Given the description of an element on the screen output the (x, y) to click on. 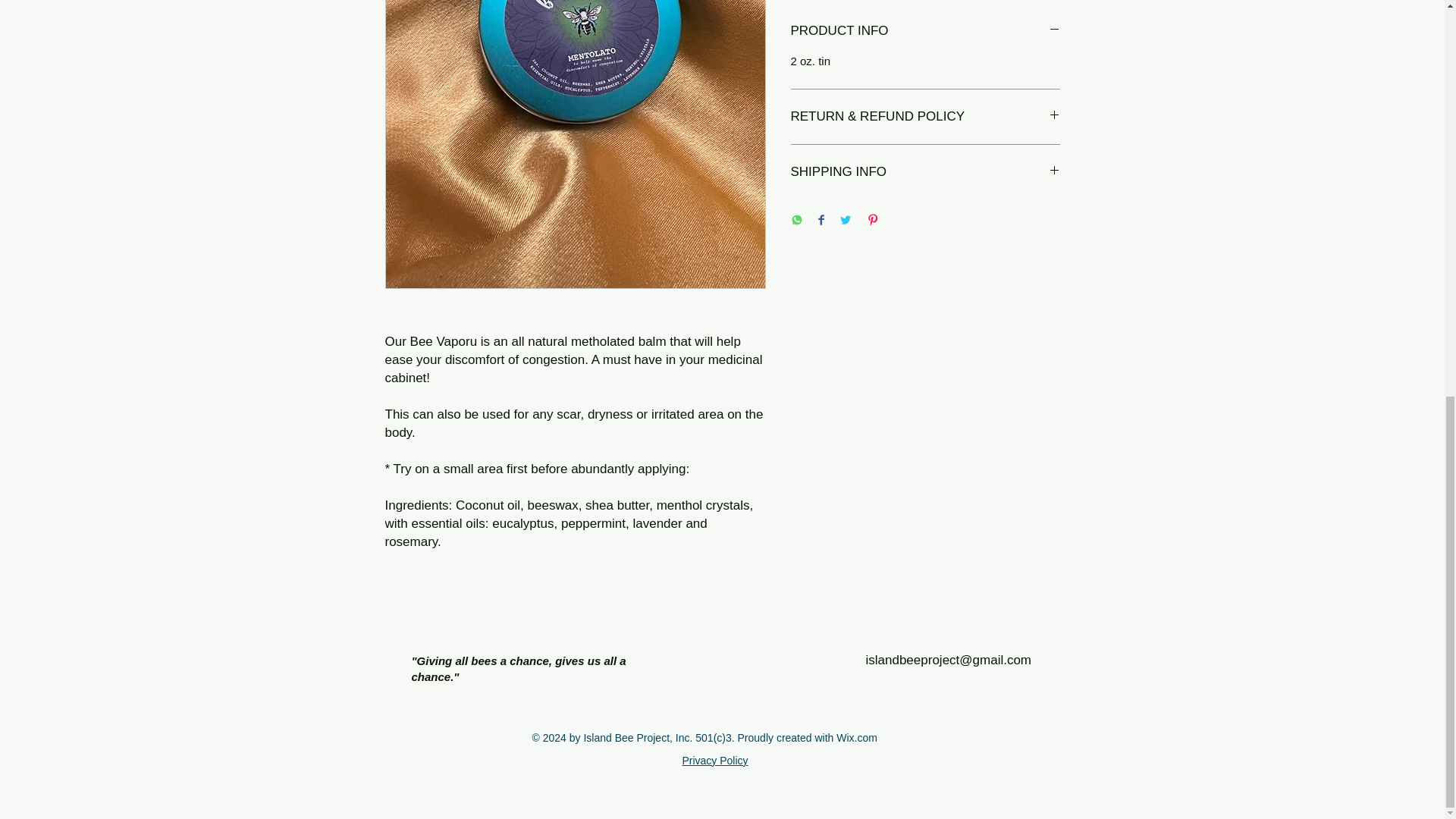
Privacy Policy (714, 760)
Wix.com (856, 737)
PRODUCT INFO (924, 31)
SHIPPING INFO (924, 171)
